Given the description of an element on the screen output the (x, y) to click on. 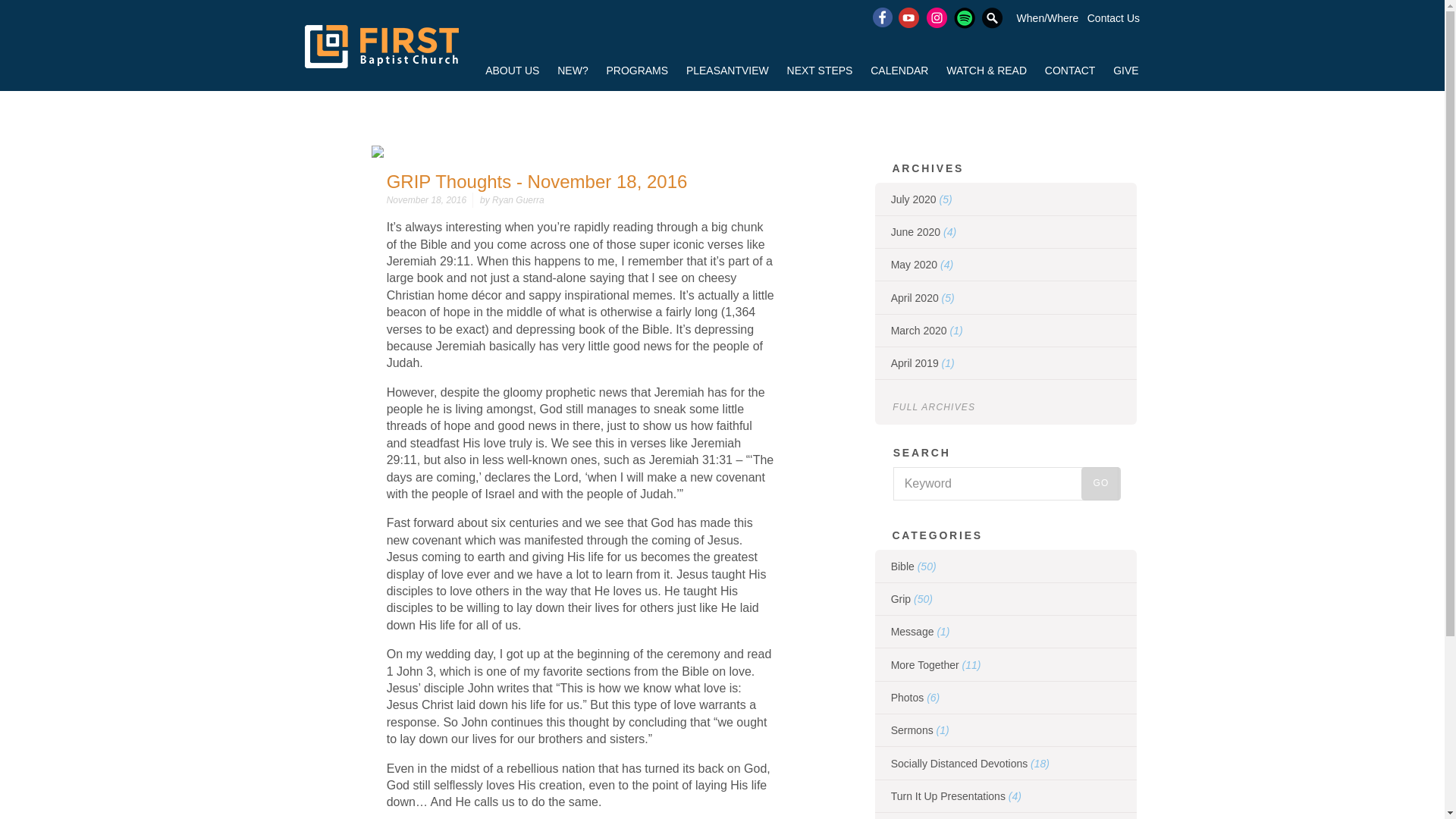
YouTube (908, 16)
Facebook (881, 16)
Contact Us (1112, 18)
GO (1100, 483)
NEW? (572, 72)
First Baptist Church Lloydminster (453, 45)
Instagram (936, 16)
Spotify (964, 16)
ABOUT US (512, 72)
PROGRAMS (636, 72)
Search Website (991, 16)
